Given the description of an element on the screen output the (x, y) to click on. 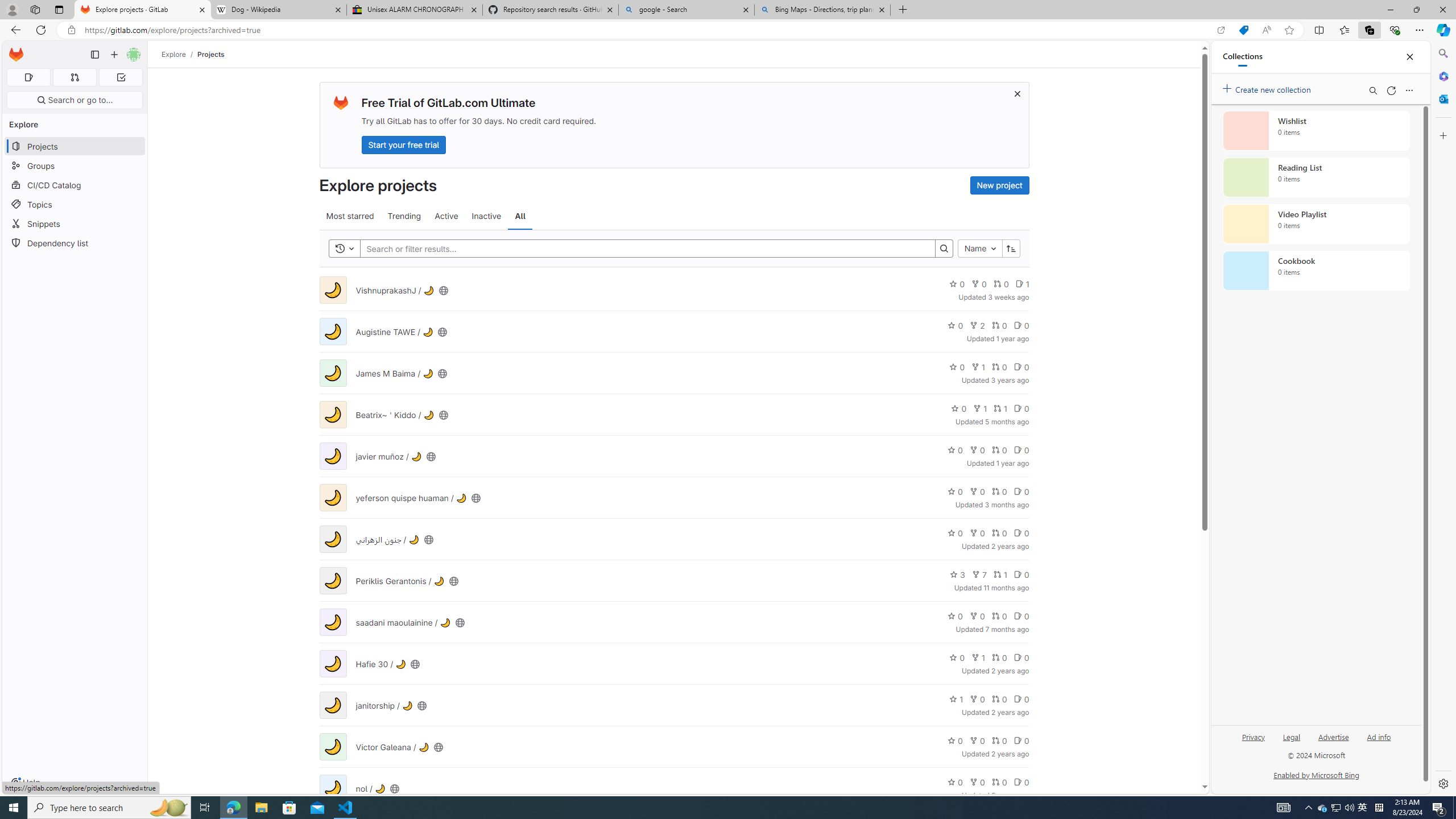
2 (977, 325)
Name (979, 248)
Sort direction: Ascending (1010, 248)
Snippets (74, 223)
Video Playlist collection, 0 items (1316, 223)
Dog - Wikipedia (277, 9)
1 (955, 698)
